Given the description of an element on the screen output the (x, y) to click on. 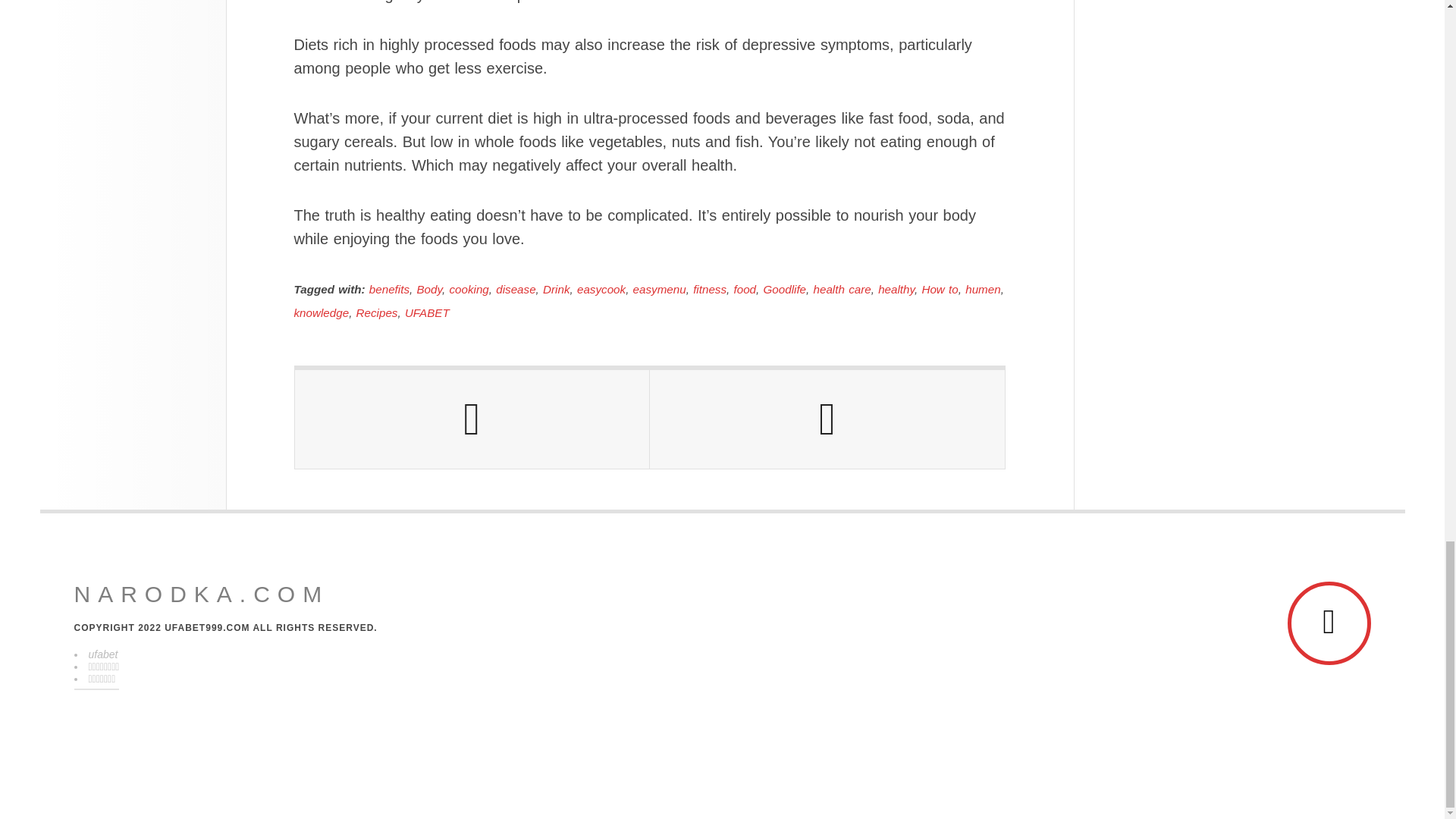
benefits (389, 288)
healthy (895, 288)
humen (982, 288)
narodka.com (202, 594)
health care (841, 288)
Body (429, 288)
disease (515, 288)
Drink (556, 288)
easycook (601, 288)
food (744, 288)
Previous Post (471, 419)
Goodlife (784, 288)
easymenu (659, 288)
Next Post (826, 419)
How to (939, 288)
